Given the description of an element on the screen output the (x, y) to click on. 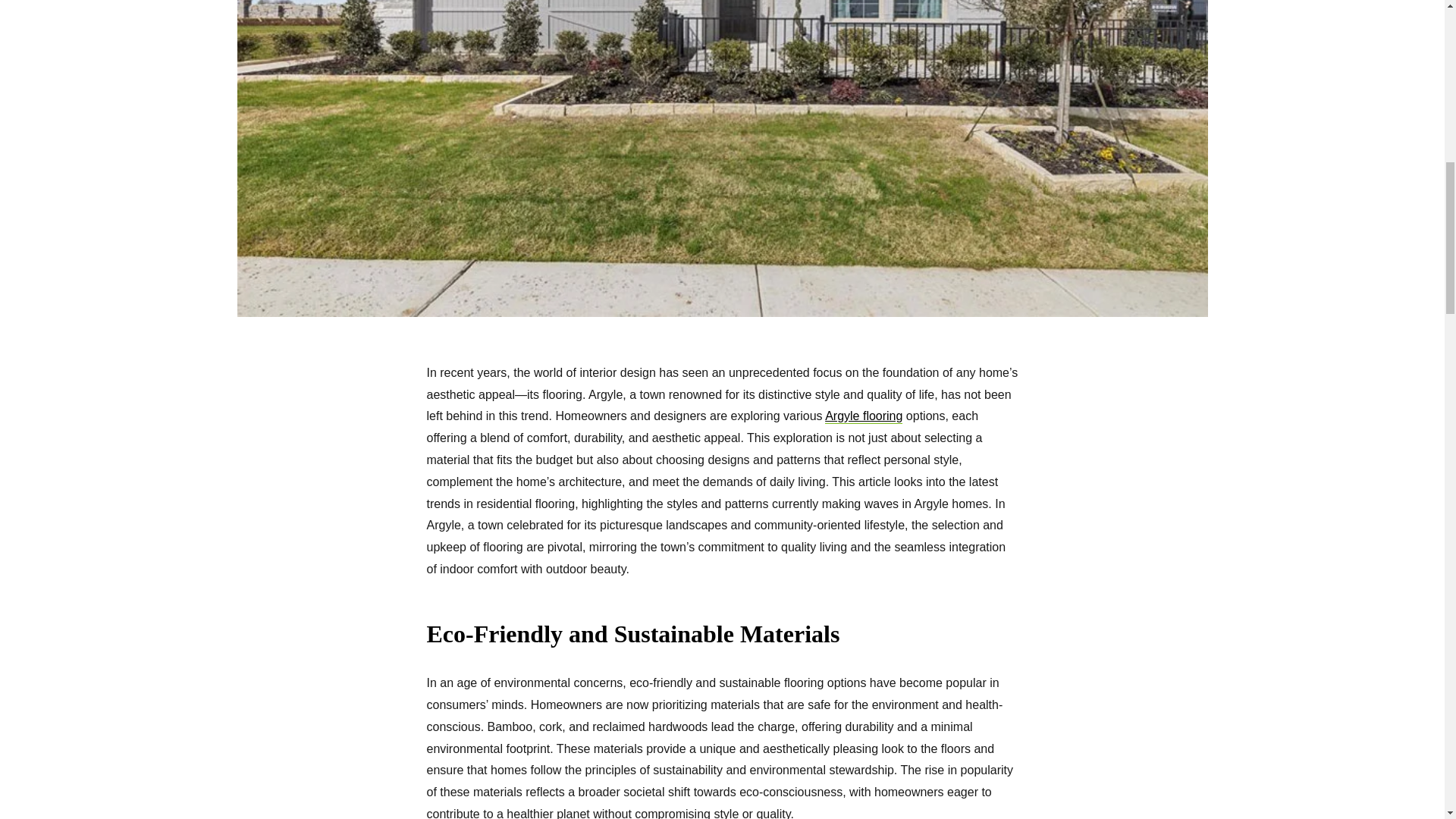
Argyle flooring (863, 416)
